Given the description of an element on the screen output the (x, y) to click on. 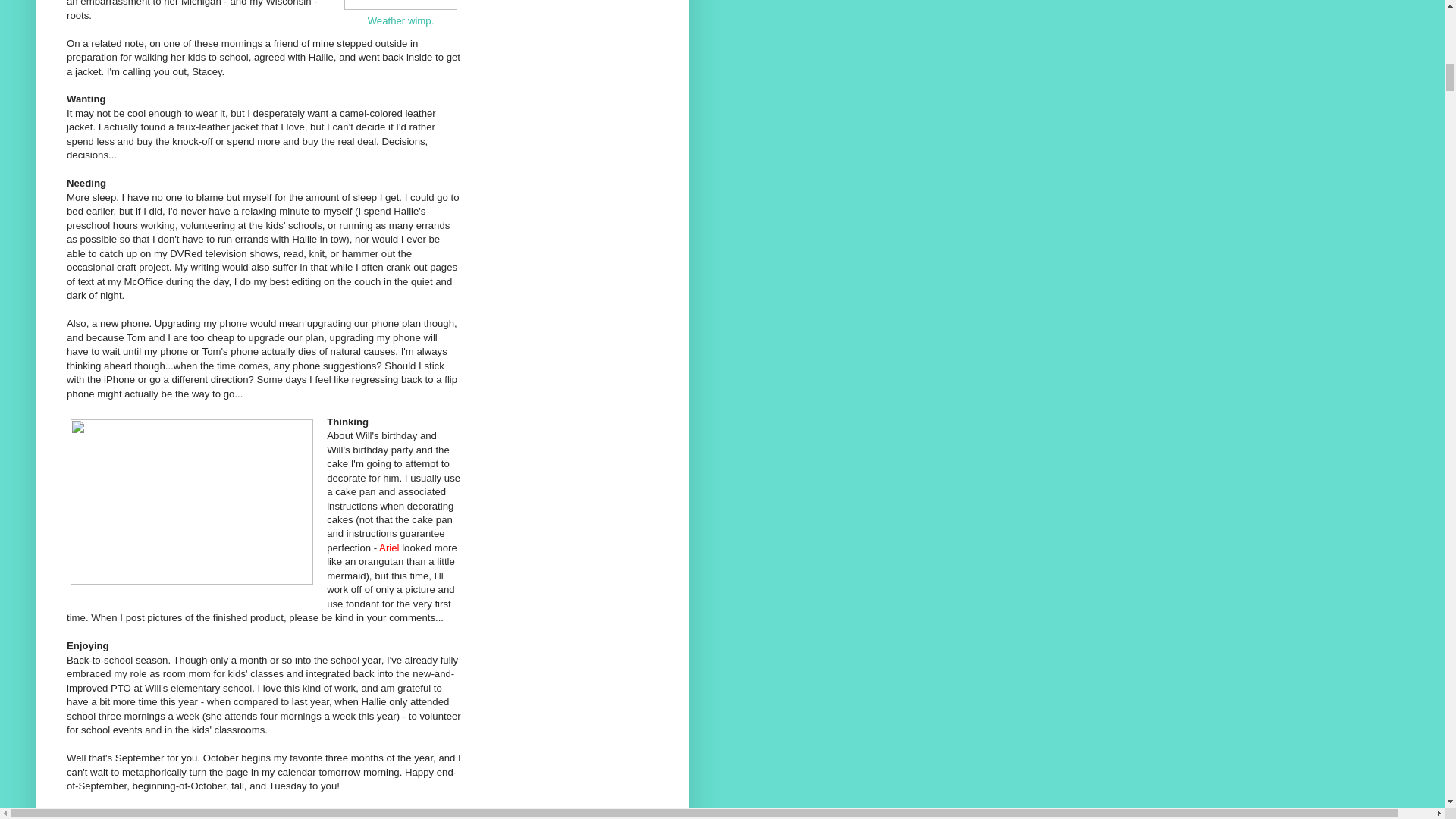
Ariel (388, 547)
